Given the description of an element on the screen output the (x, y) to click on. 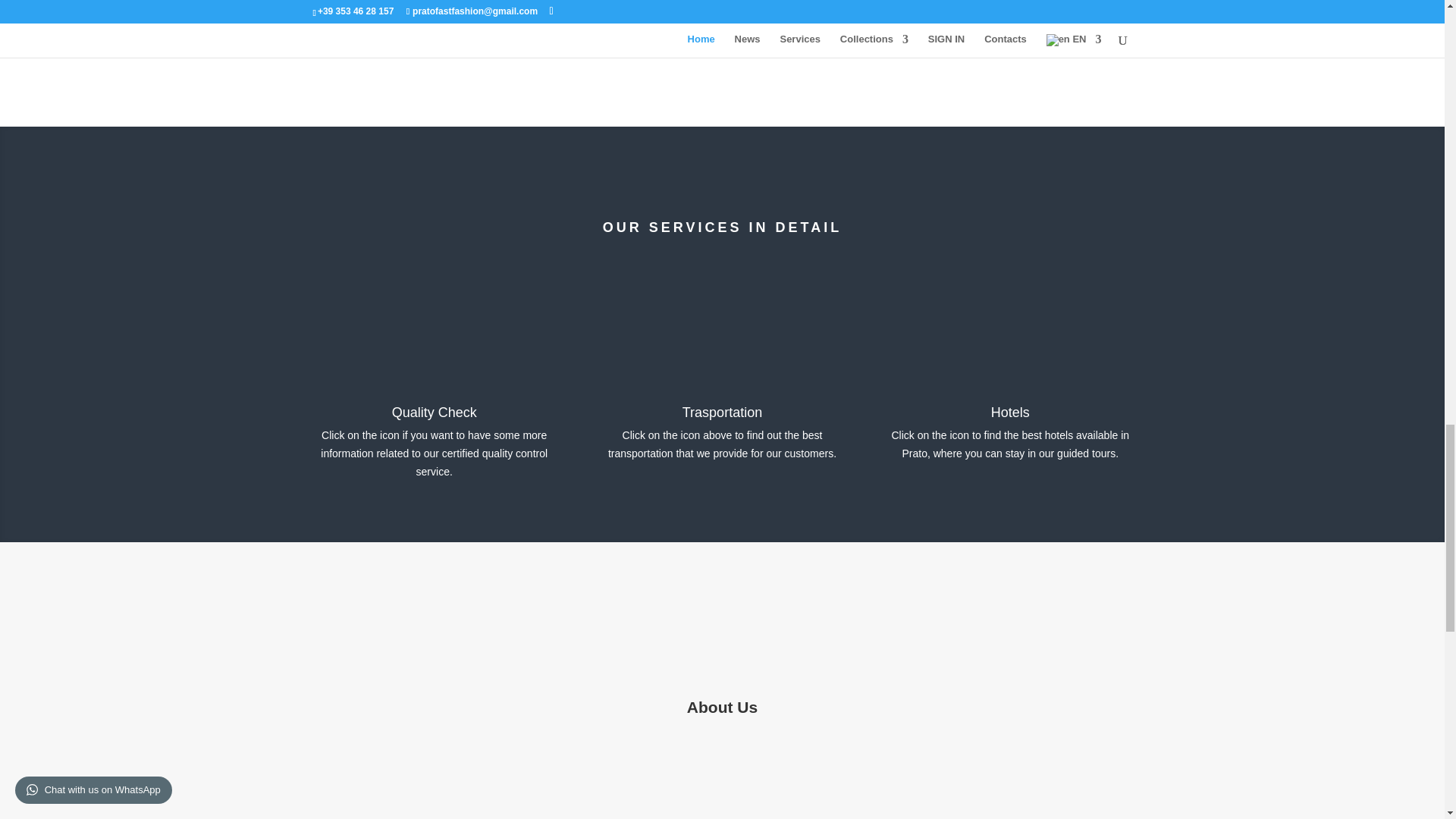
Quality Check (434, 412)
Trasportation (721, 412)
